Given the description of an element on the screen output the (x, y) to click on. 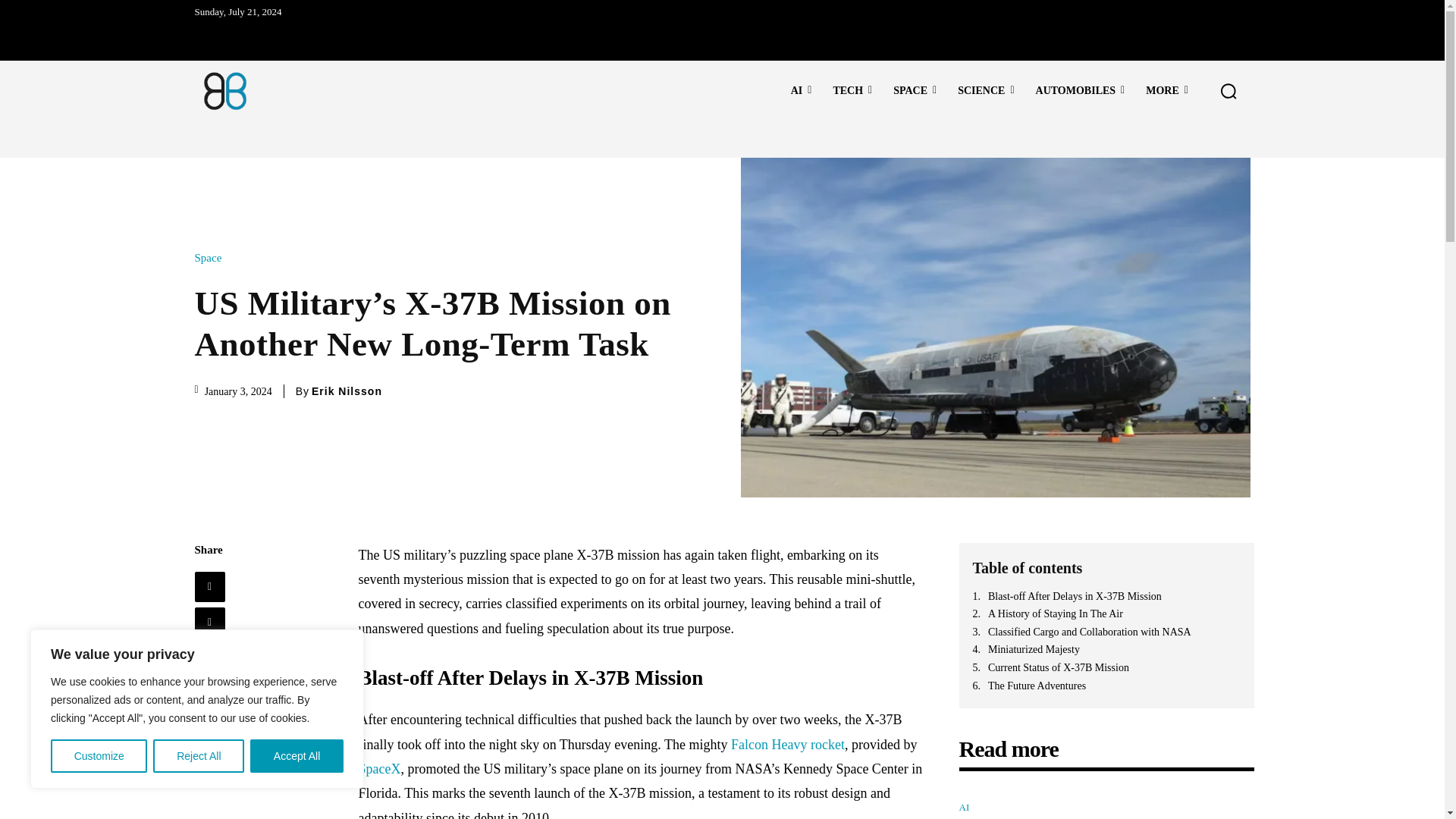
Accept All (296, 756)
Reject All (198, 756)
Customize (98, 756)
